Given the description of an element on the screen output the (x, y) to click on. 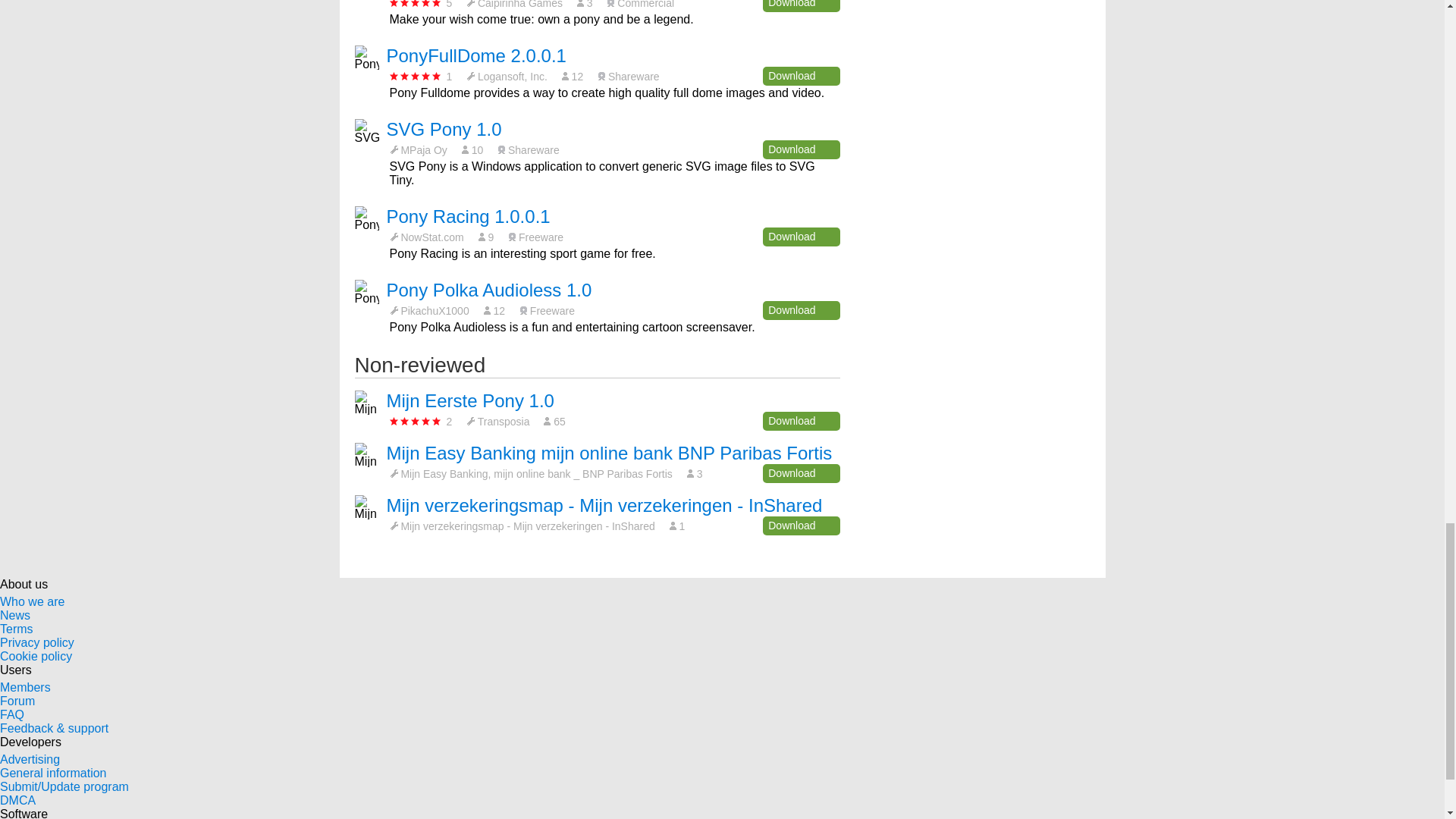
SVG Pony 1.0 (444, 128)
Download (801, 149)
4.2 (415, 3)
Download (801, 75)
Download (801, 6)
PonyFullDome 2.0.0.1 (476, 55)
Pony Racing 1.0.0.1 (468, 216)
